Given the description of an element on the screen output the (x, y) to click on. 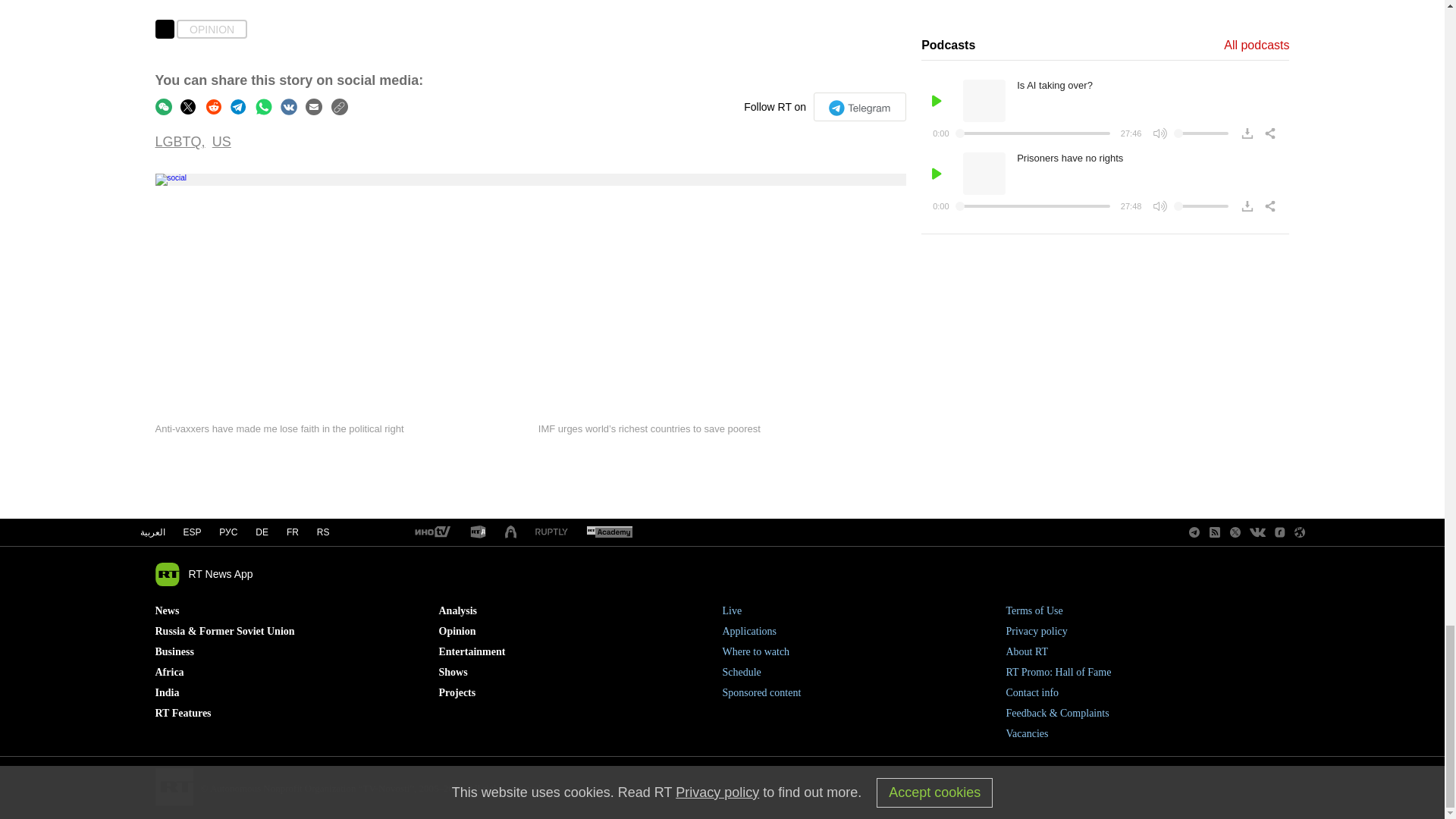
RT  (608, 532)
RT  (551, 532)
RT  (478, 532)
RT  (431, 532)
